Given the description of an element on the screen output the (x, y) to click on. 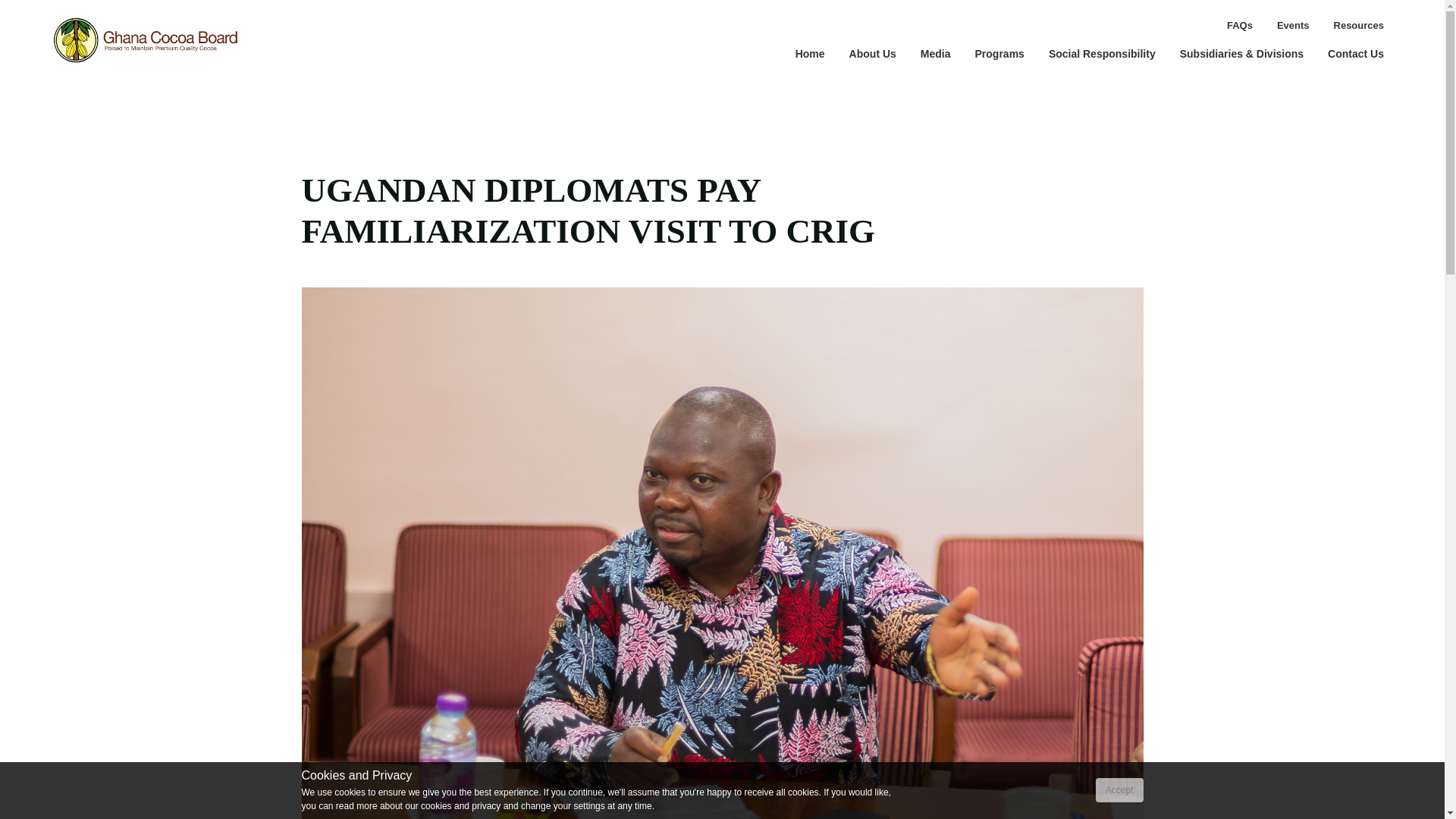
Contact Us (1356, 53)
Programs (999, 53)
Media (935, 53)
Social Responsibility (1101, 53)
Events (1293, 26)
Resources (1359, 26)
About Us (872, 53)
Home (810, 53)
FAQs (1239, 26)
